Given the description of an element on the screen output the (x, y) to click on. 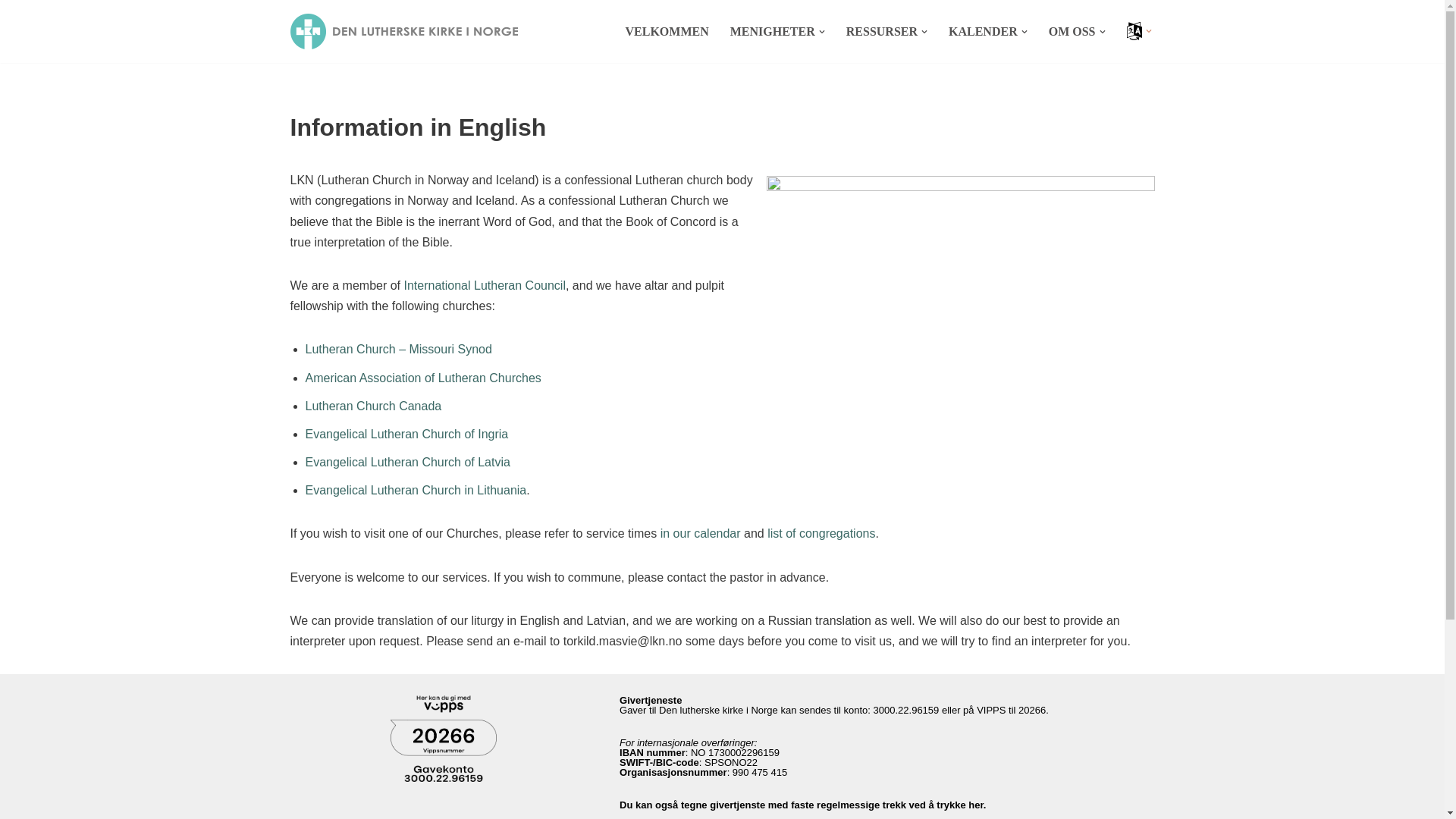
Hopp til innholdet (11, 31)
KALENDER (983, 31)
MENIGHETER (772, 31)
OM OSS (1072, 31)
RESSURSER (881, 31)
VELKOMMEN (667, 31)
